Given the description of an element on the screen output the (x, y) to click on. 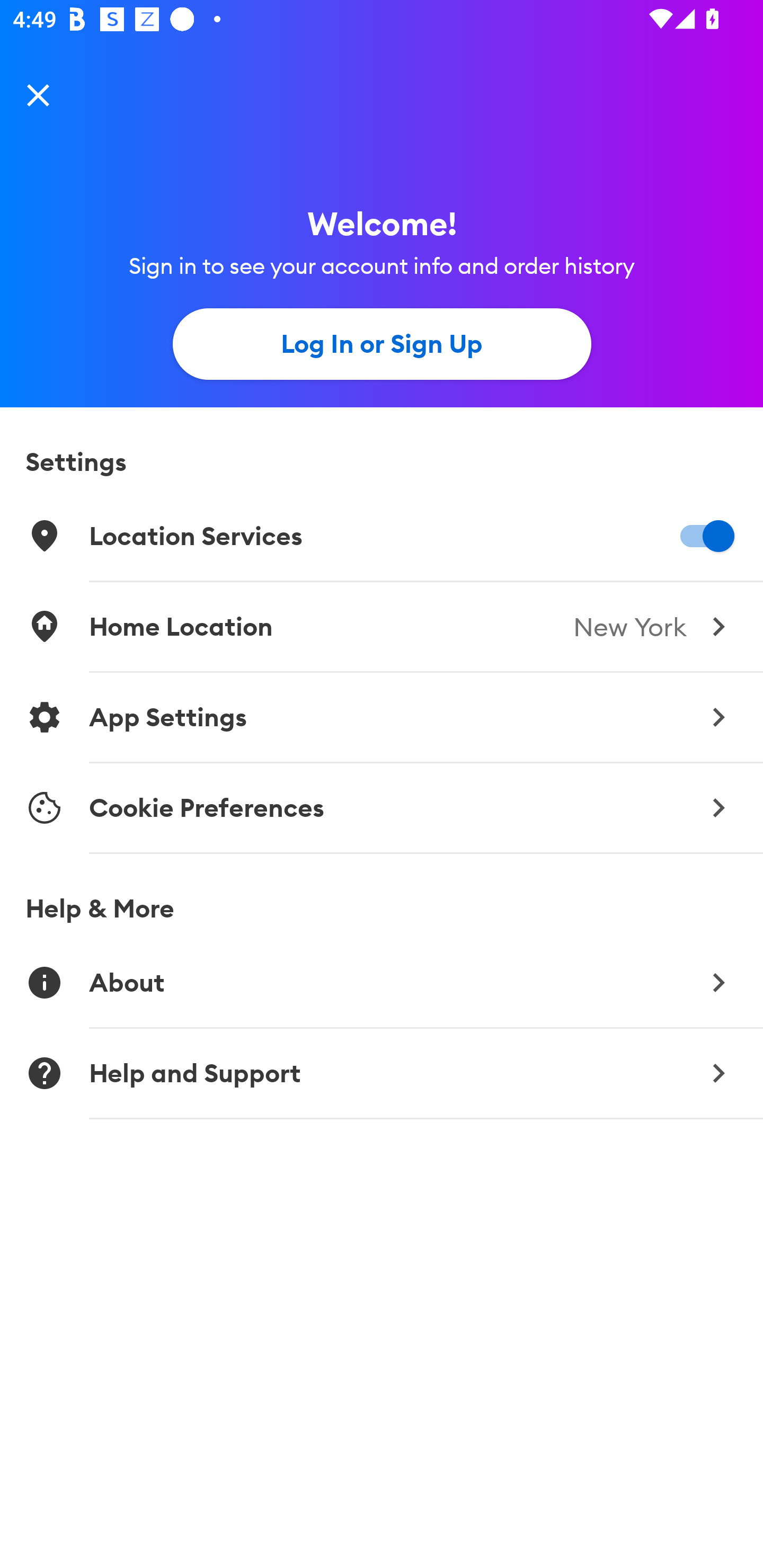
Close (38, 94)
Log In or Sign Up (381, 343)
Location Services (381, 536)
Home Location New York (381, 626)
App Settings (381, 717)
Cookie Preferences (381, 807)
About (381, 982)
Help & Support Link (381, 1072)
